Given the description of an element on the screen output the (x, y) to click on. 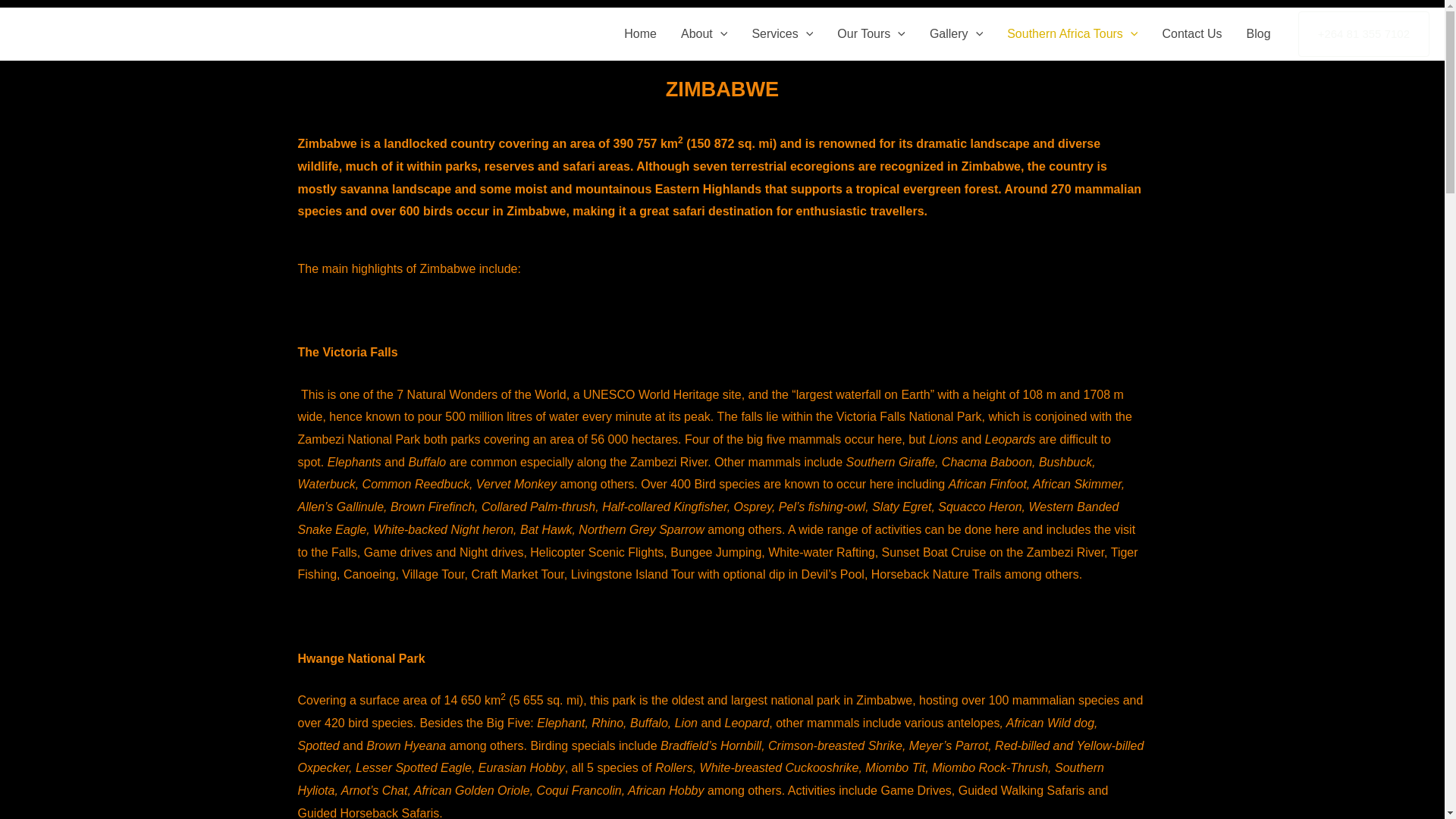
Home (639, 33)
Blog (1258, 33)
Gallery (955, 33)
Our Tours (871, 33)
About (703, 33)
Services (782, 33)
Contact Us (1191, 33)
Southern Africa Tours (1072, 33)
